Given the description of an element on the screen output the (x, y) to click on. 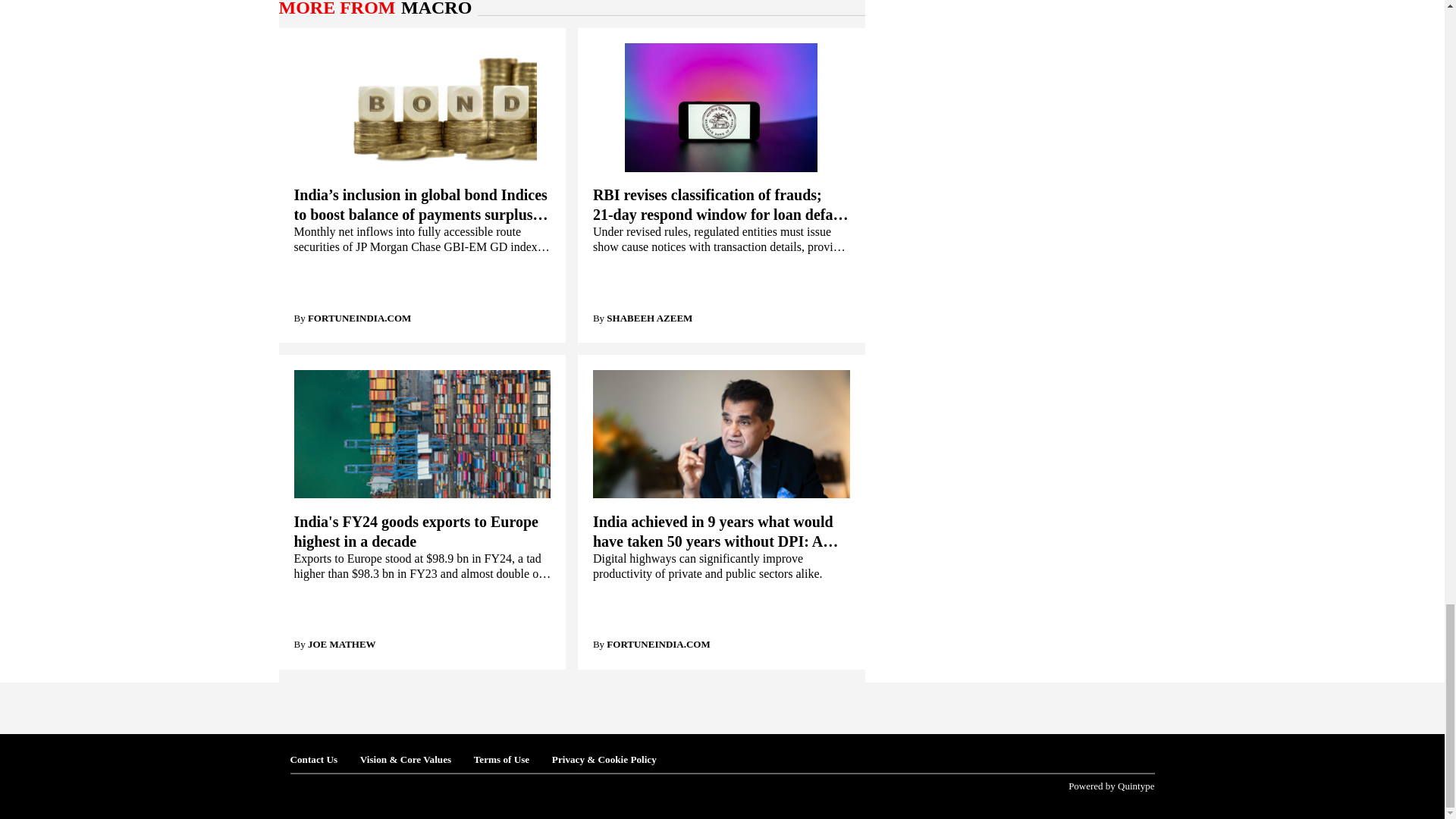
fortuneindia.com (358, 317)
